Given the description of an element on the screen output the (x, y) to click on. 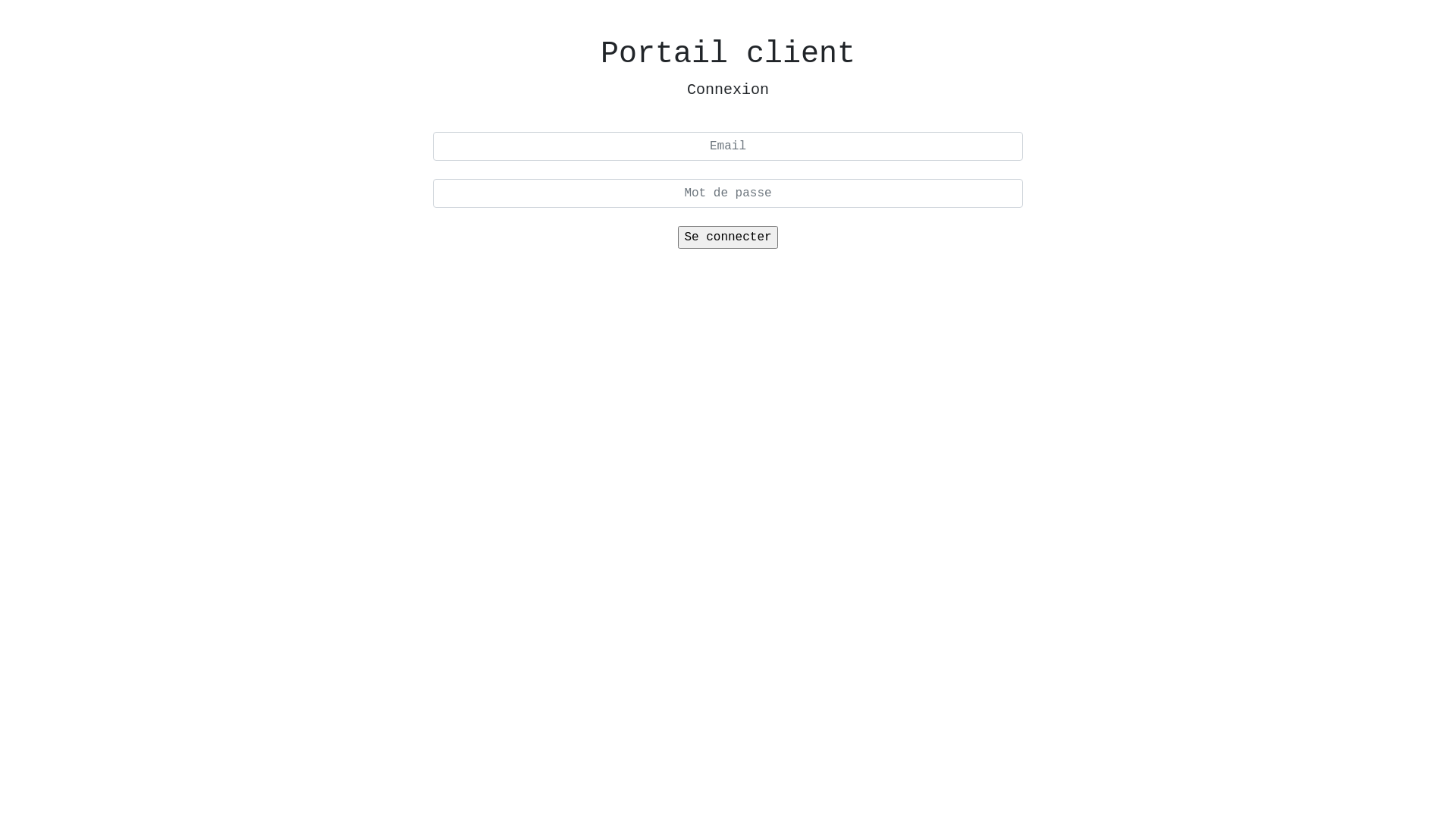
Se connecter Element type: text (727, 236)
